Given the description of an element on the screen output the (x, y) to click on. 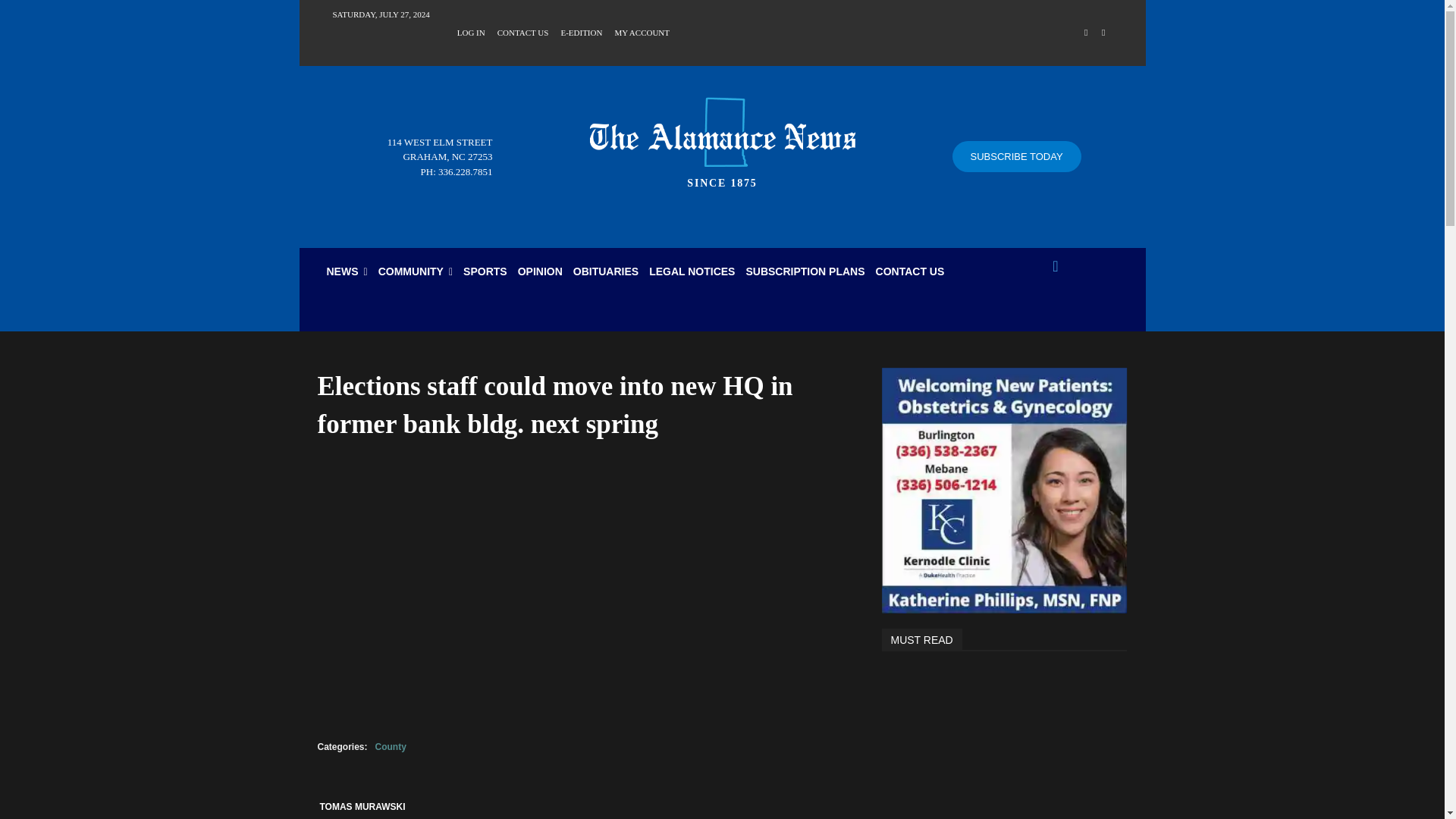
COMMUNITY (415, 271)
SUBSCRIBE TODAY (1016, 155)
SINCE 1875 (722, 138)
The Alamance News Logo (722, 138)
E-EDITION (581, 31)
CONTACT US (522, 31)
MY ACCOUNT (641, 31)
LOG IN (470, 31)
Twitter (1103, 32)
NEWS (346, 271)
The Alamance News Logo (722, 132)
Facebook (1085, 32)
SUBSCRIBE TODAY (1016, 155)
